Given the description of an element on the screen output the (x, y) to click on. 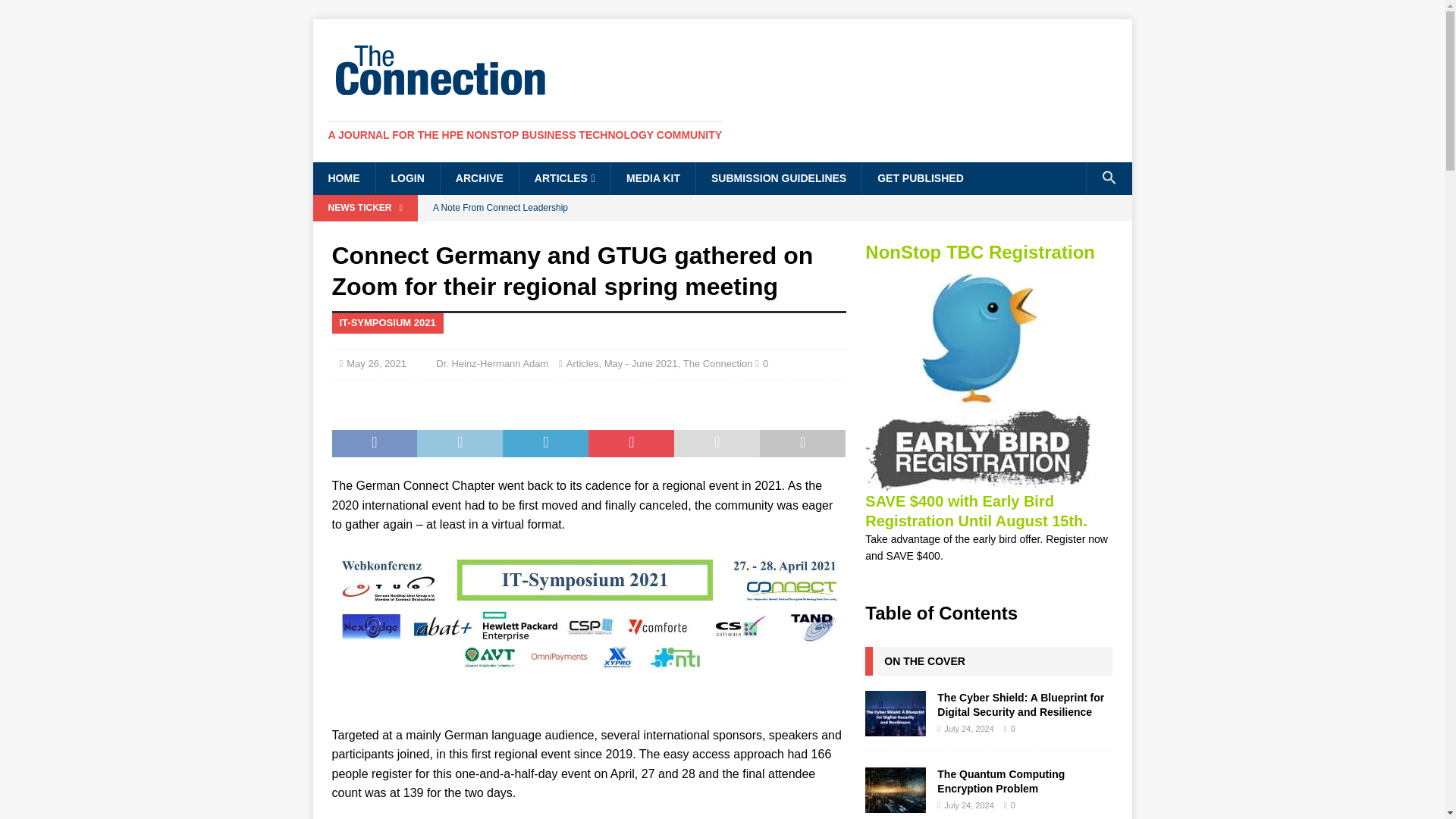
A Note From Connect Leadership (634, 207)
Dr. Heinz-Hermann Adam (491, 363)
A JOURNAL FOR THE HPE NONSTOP BUSINESS TECHNOLOGY COMMUNITY (524, 134)
